Given the description of an element on the screen output the (x, y) to click on. 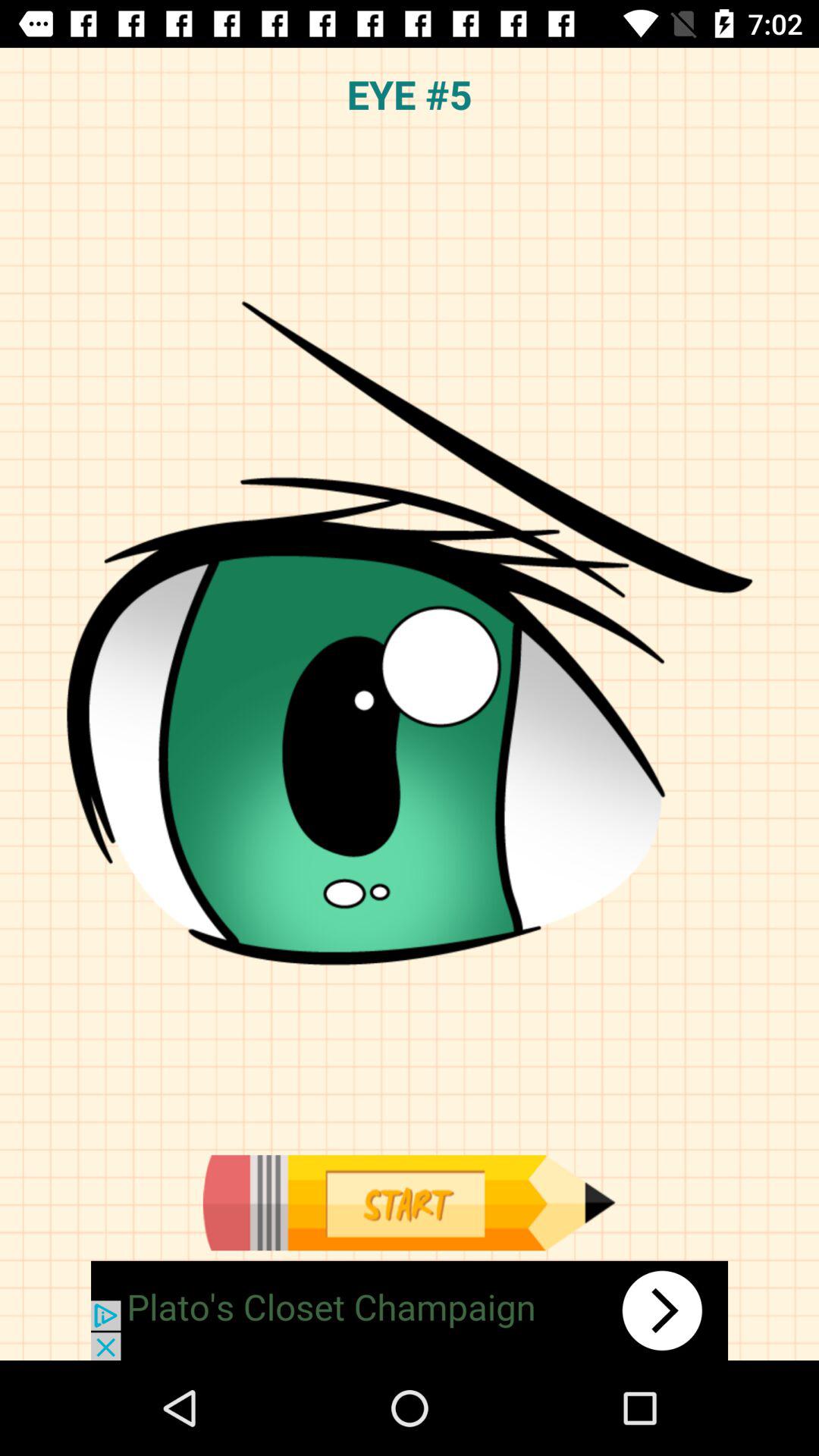
start current content (409, 1202)
